Given the description of an element on the screen output the (x, y) to click on. 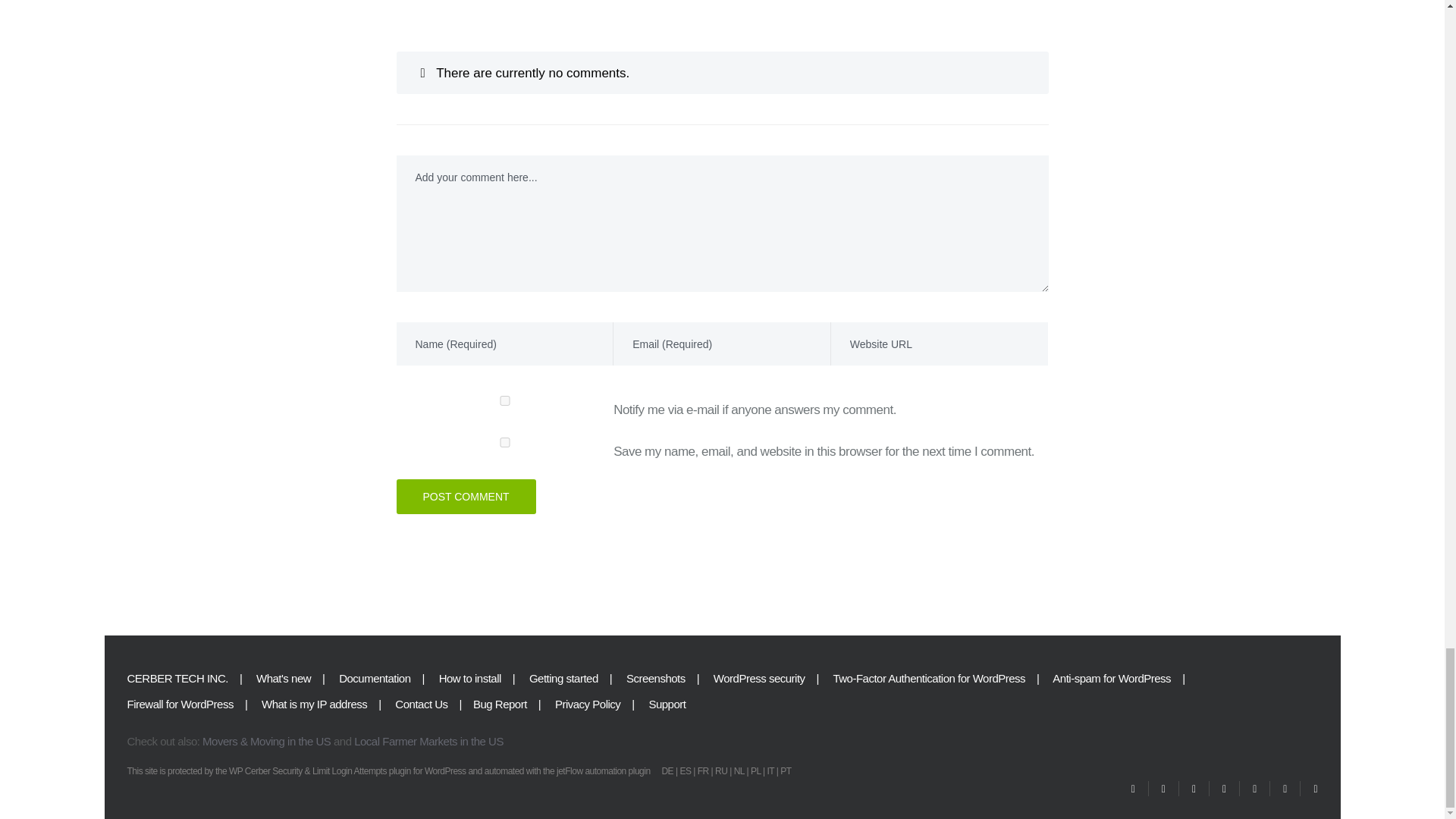
Reddit (1308, 788)
GitHub (1284, 788)
yes (504, 442)
Dribbble (1162, 788)
Tumblr (1254, 788)
Twitter (1133, 788)
on (504, 400)
Post Comment (465, 496)
Facebook (1193, 788)
